Given the description of an element on the screen output the (x, y) to click on. 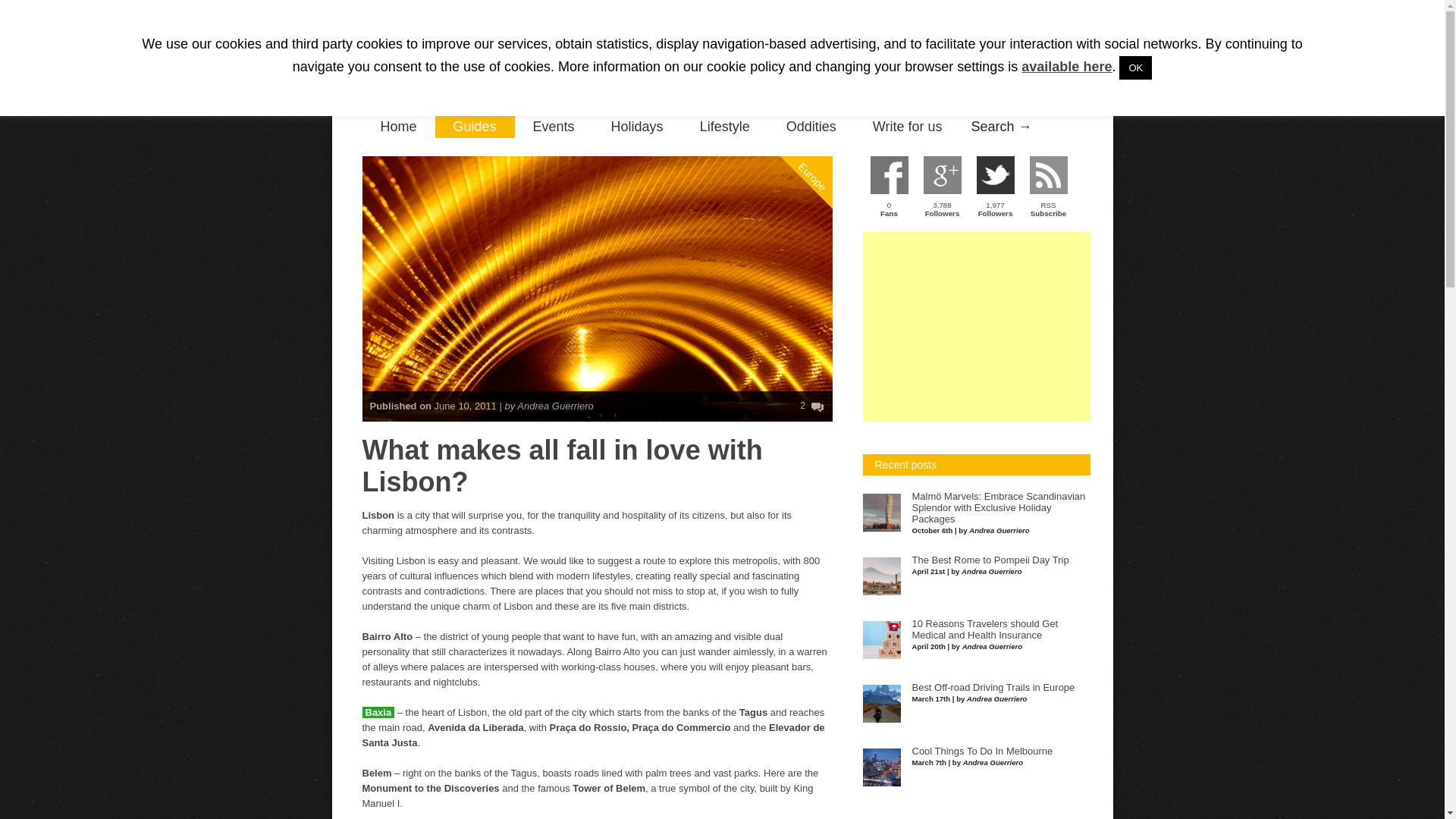
Baxia (378, 712)
10 Reasons Travelers should Get Medical and Health Insurance (984, 629)
Europe (828, 114)
Lifestyle (724, 127)
Home (398, 127)
The Best Rome to Pompeii Day Trip (989, 560)
Write for us (907, 127)
Events (553, 127)
Advertisement (976, 326)
Oddities (811, 127)
